Given the description of an element on the screen output the (x, y) to click on. 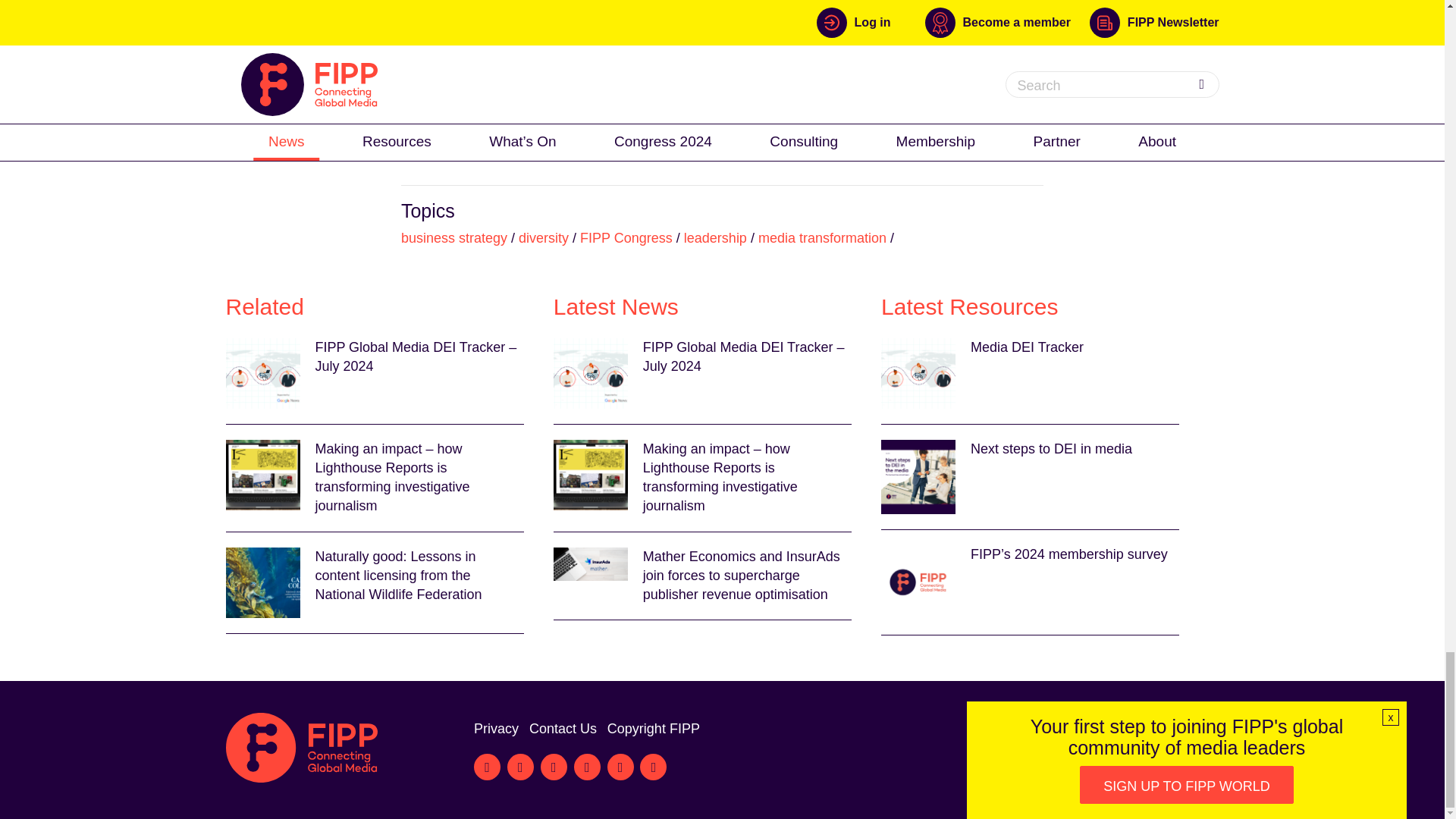
sessions live or On-Demand (486, 105)
diversity (543, 237)
here (948, 105)
FIPP World Media Congress (516, 68)
here (760, 105)
business strategy (453, 237)
